Given the description of an element on the screen output the (x, y) to click on. 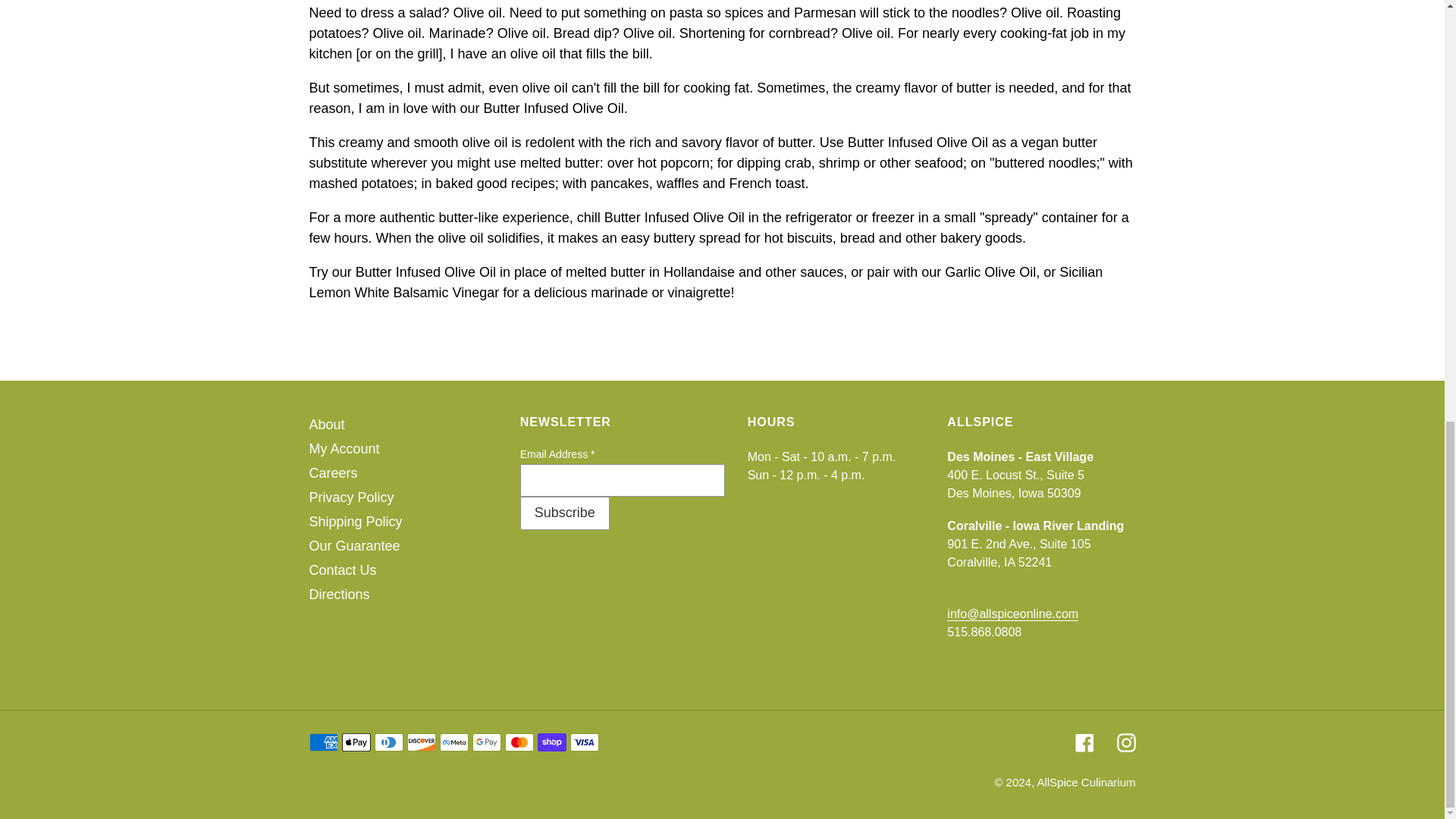
Subscribe (564, 512)
